Given the description of an element on the screen output the (x, y) to click on. 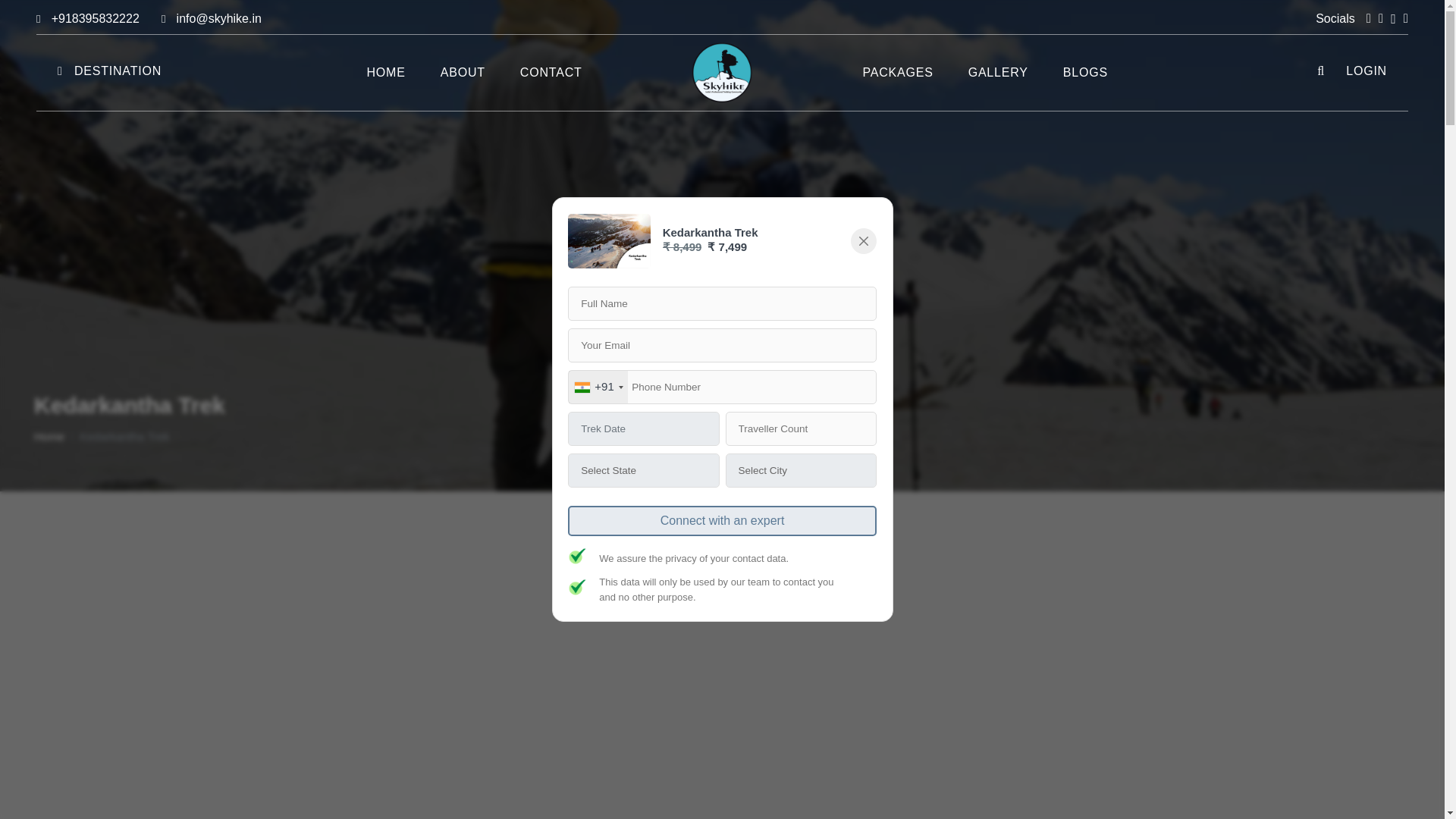
DESTINATION (108, 69)
Home (48, 435)
HOME (386, 72)
CONTACT (550, 72)
ABOUT (462, 72)
PACKAGES (897, 72)
GALLERY (997, 72)
BLOGS (1085, 72)
LOGIN (1363, 69)
